Given the description of an element on the screen output the (x, y) to click on. 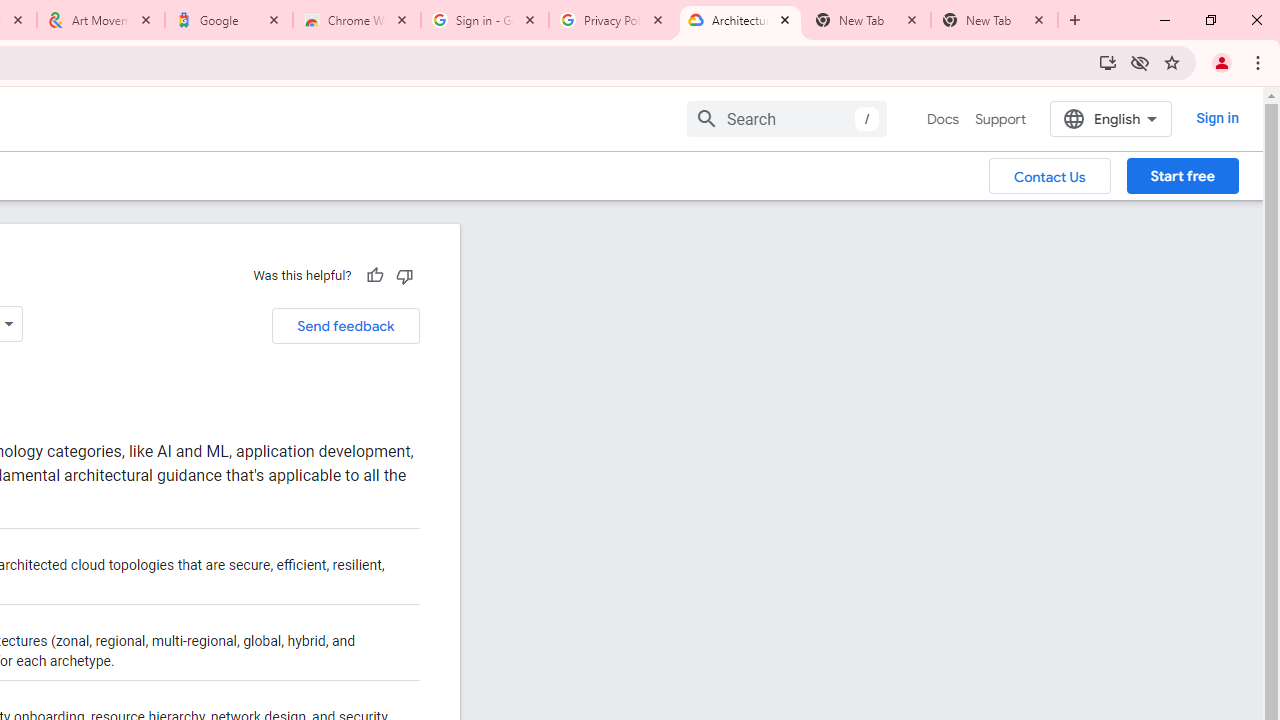
Not helpful (404, 275)
Google (229, 20)
Install Google Cloud (1107, 62)
Start free (1182, 175)
Helpful (374, 275)
Contact Us (1050, 175)
